Given the description of an element on the screen output the (x, y) to click on. 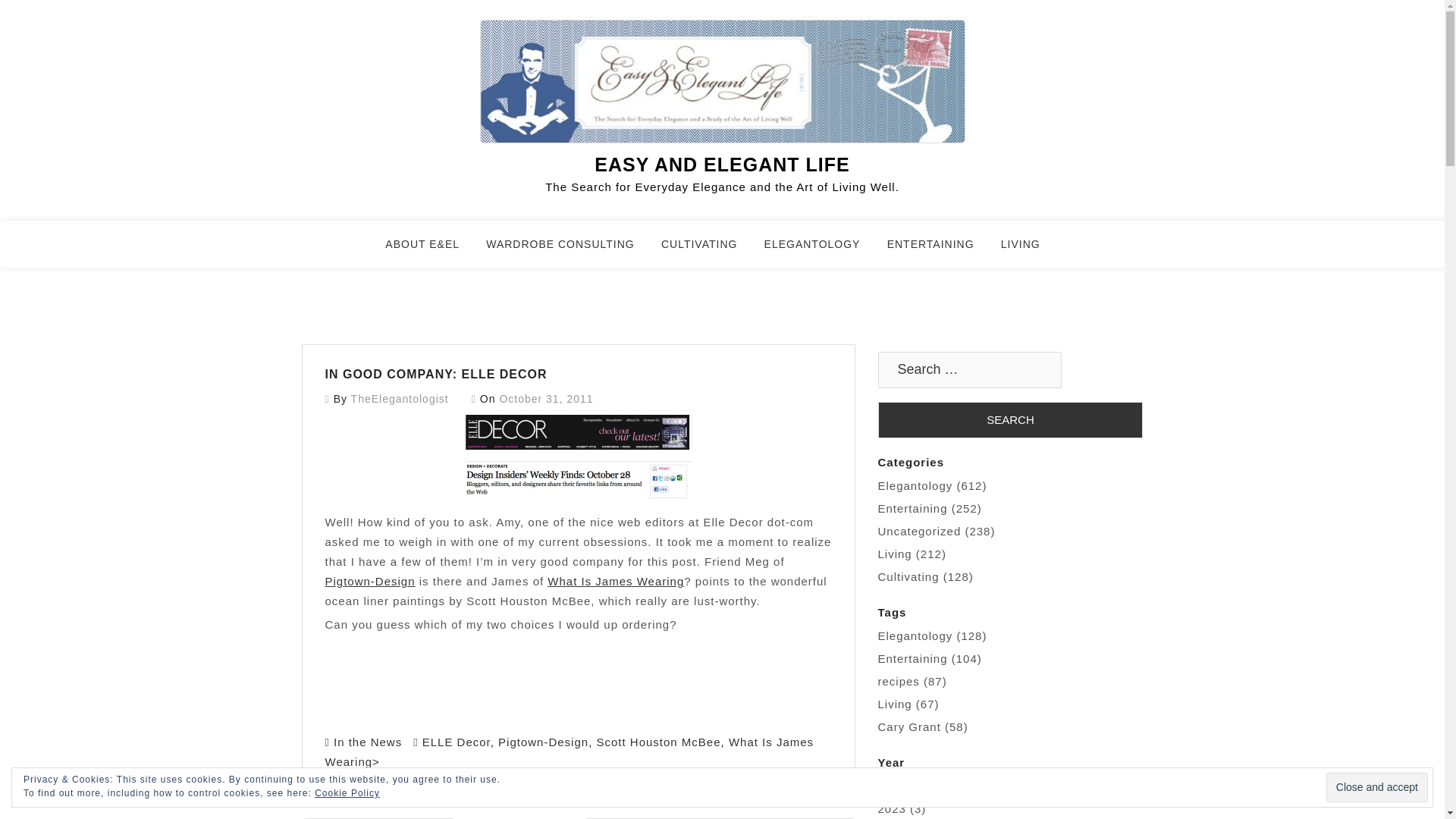
ELEGANTOLOGY (821, 250)
Close and accept (1377, 787)
Elle Decor.com Masthead (577, 431)
What Is James Wearing (615, 581)
Search (1009, 420)
EASY AND ELEGANT LIFE (721, 164)
ELLE Decor (456, 741)
WARDROBE CONSULTING (569, 250)
Search (1009, 420)
ENTERTAINING (939, 250)
